Given the description of an element on the screen output the (x, y) to click on. 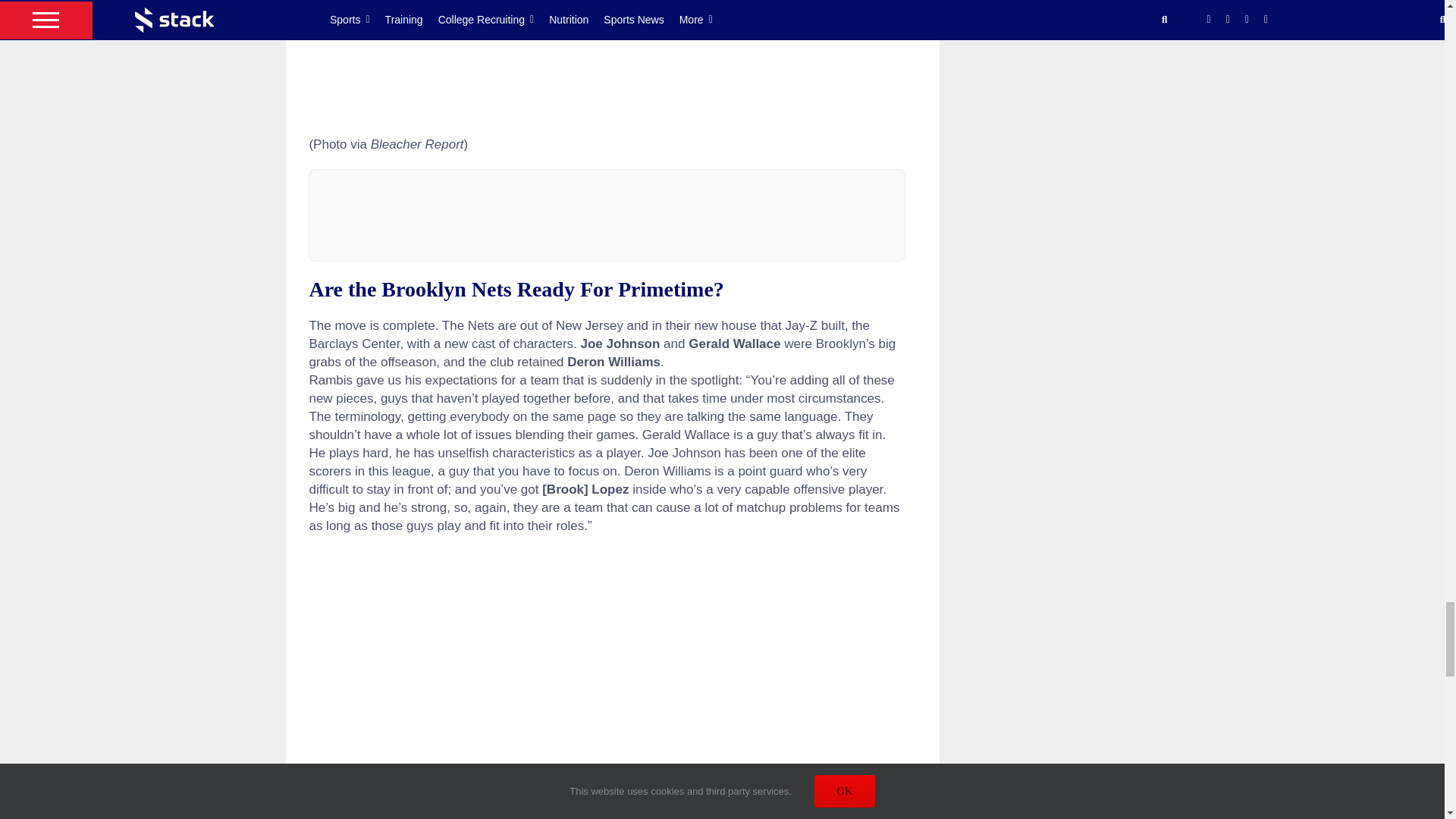
Ray Allen - STACK (606, 60)
Brooklyn Nets - STACK (606, 684)
